Given the description of an element on the screen output the (x, y) to click on. 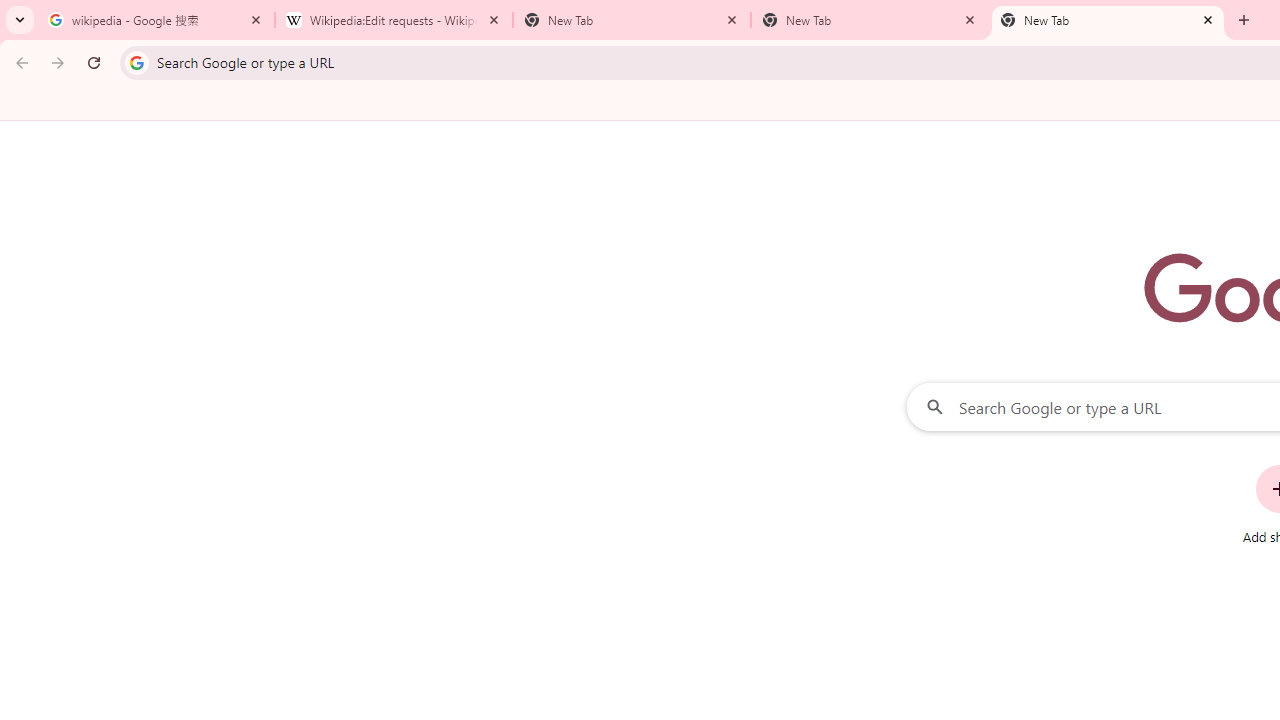
New Tab (870, 20)
New Tab (632, 20)
Wikipedia:Edit requests - Wikipedia (394, 20)
New Tab (1108, 20)
